Given the description of an element on the screen output the (x, y) to click on. 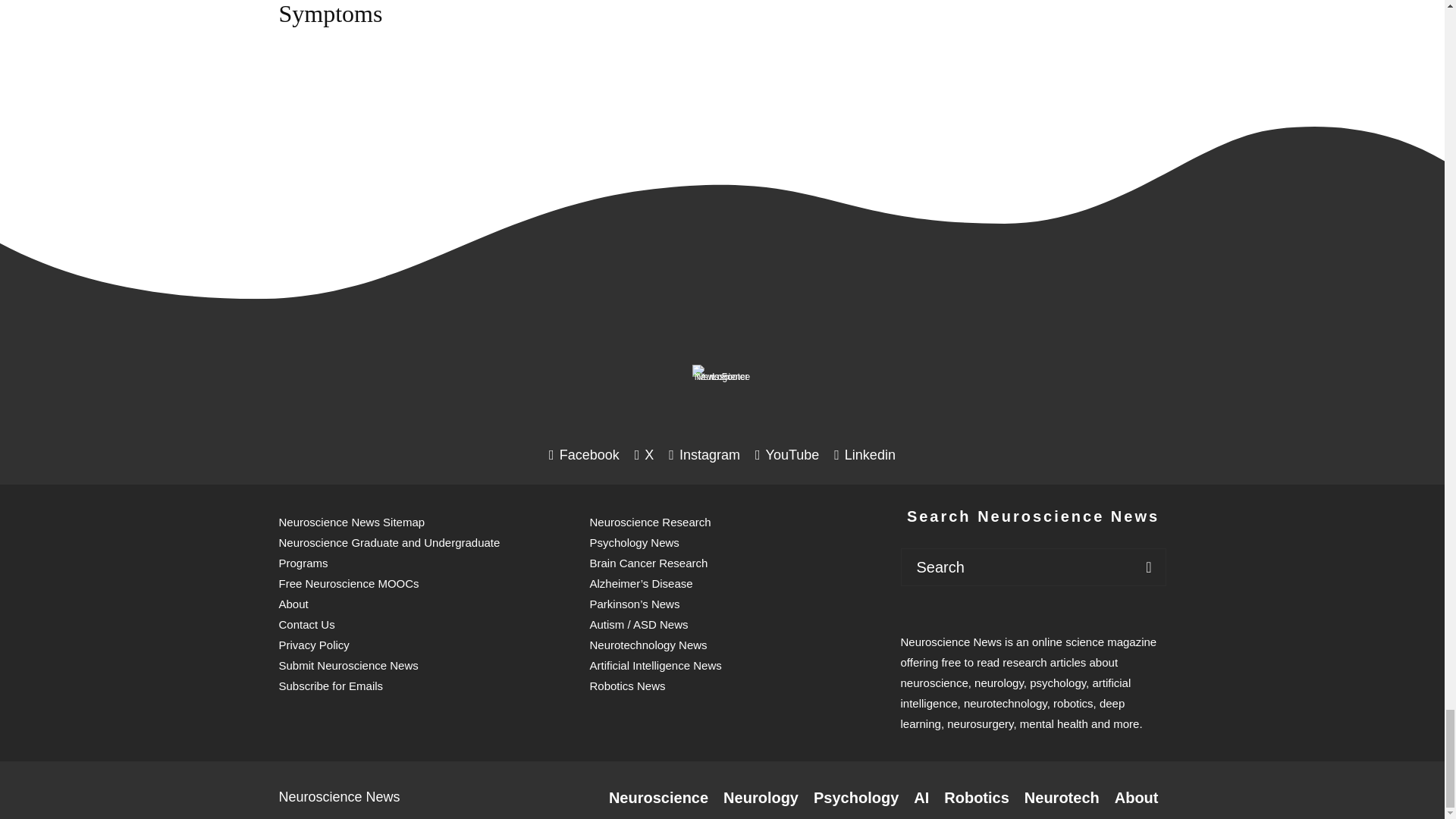
Neurology Research Articles (760, 797)
Neuroscience Research (657, 797)
Psychology Research Articles (855, 797)
